Given the description of an element on the screen output the (x, y) to click on. 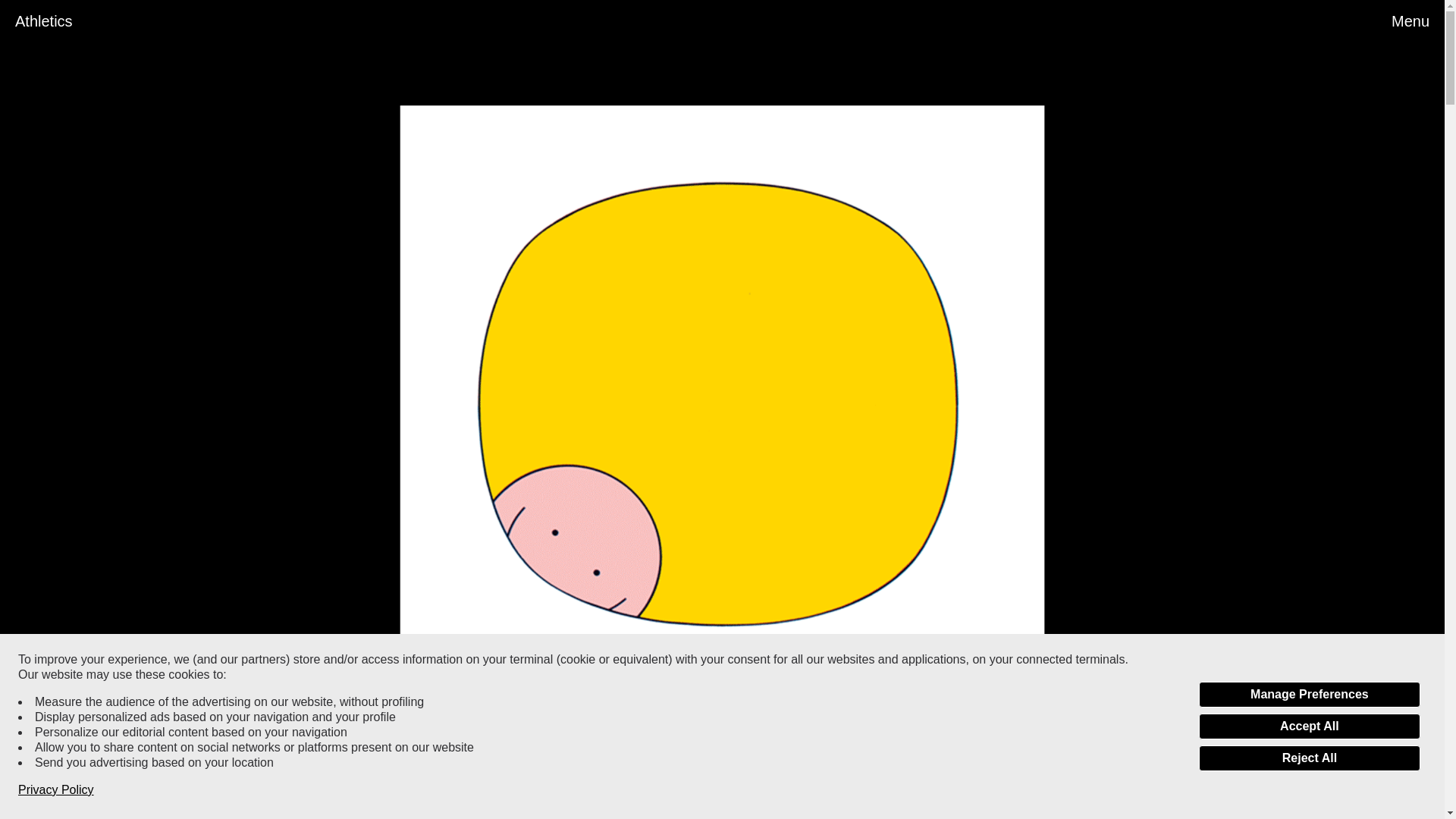
Privacy Policy (55, 789)
Reject All (1309, 758)
Accept All (1309, 726)
Athletics (43, 21)
Manage Preferences (1309, 694)
